Given the description of an element on the screen output the (x, y) to click on. 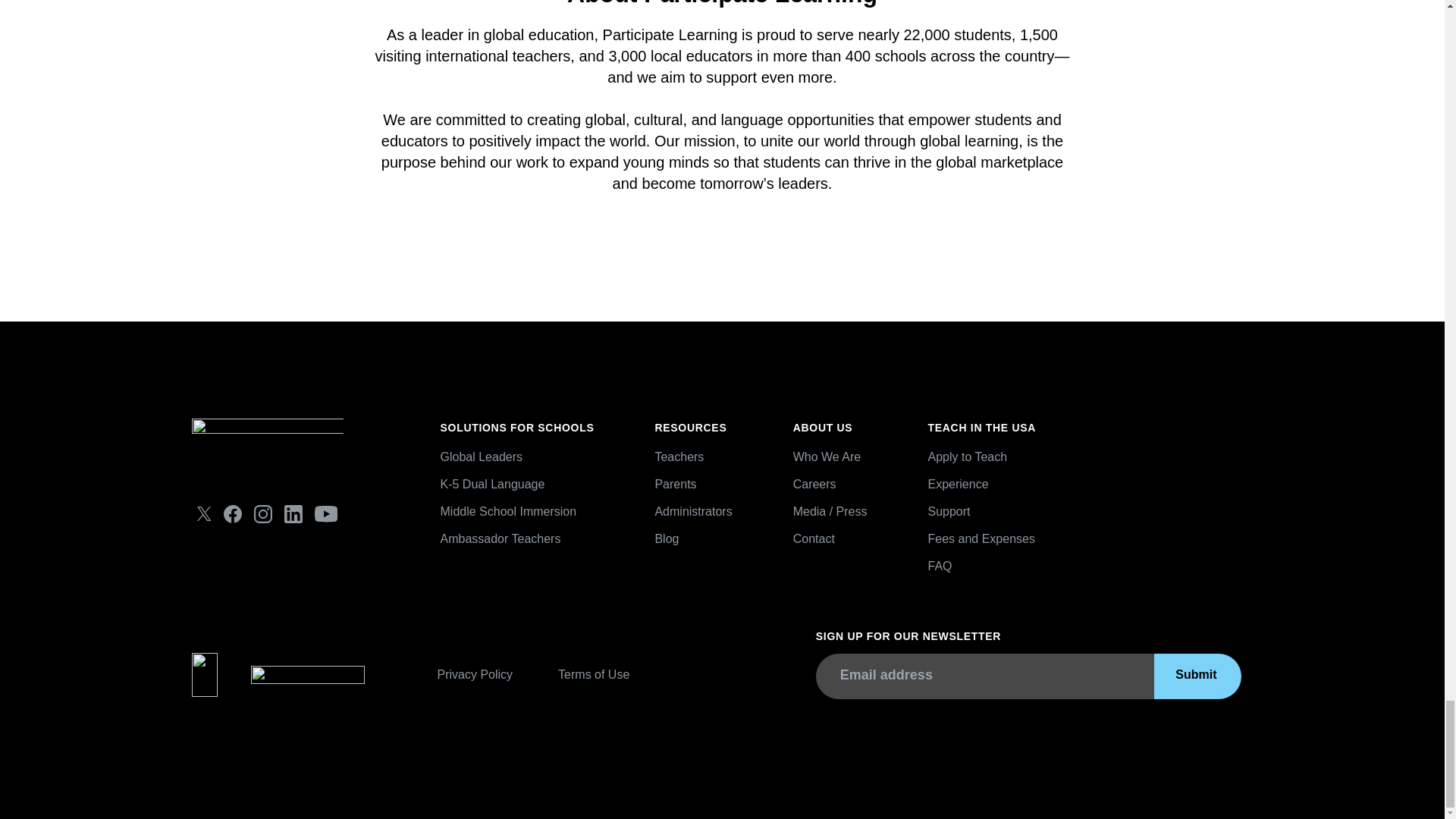
Submit (1197, 676)
